Given the description of an element on the screen output the (x, y) to click on. 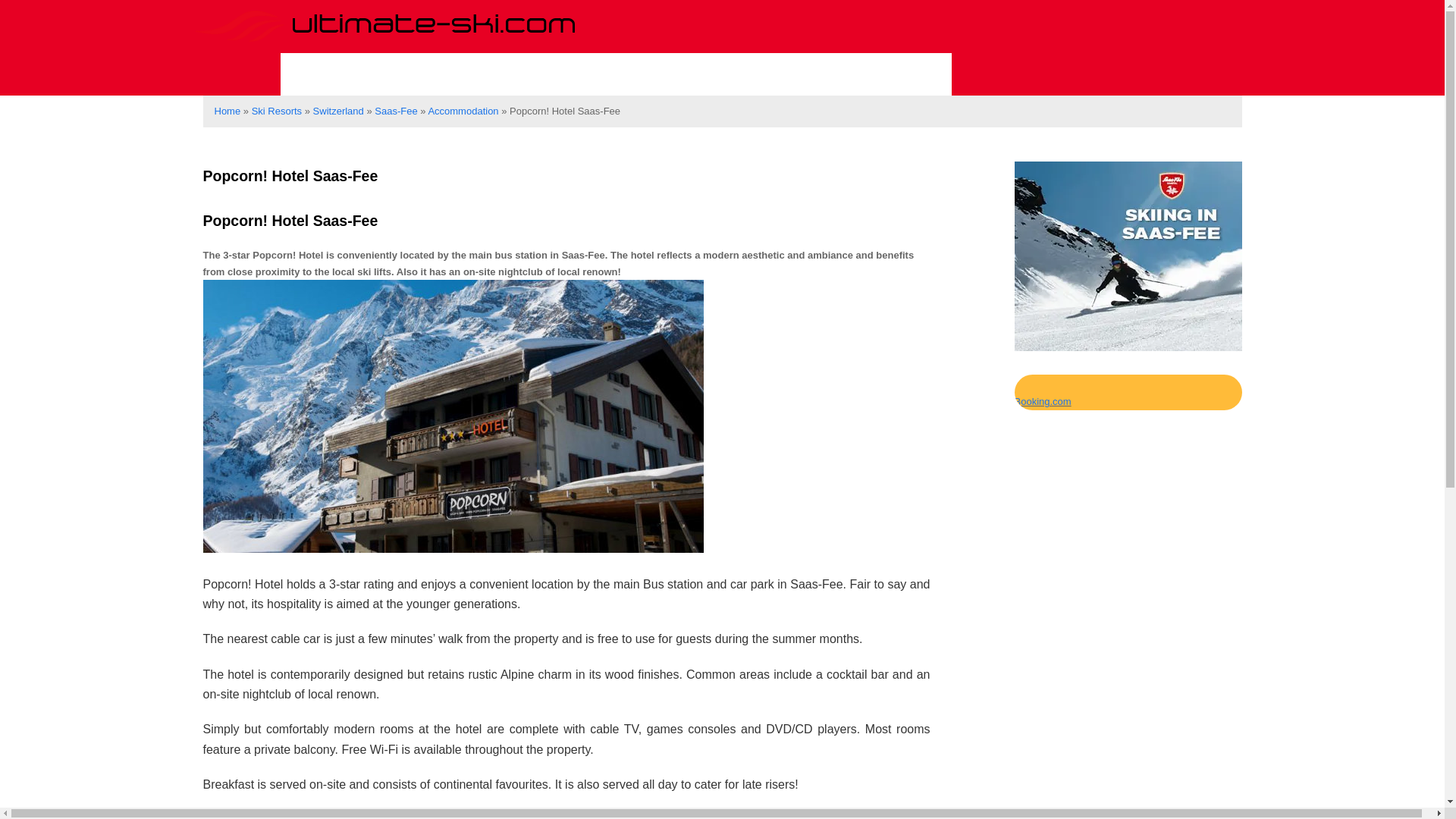
Home (227, 111)
Features (729, 74)
Ski Resorts (276, 111)
Switzerland (338, 111)
Ski Rental (615, 74)
Saas-Fee (395, 111)
Booking.com (1042, 401)
Ski Lessons (489, 74)
Accommodation (867, 74)
Ski Resorts (351, 74)
